Given the description of an element on the screen output the (x, y) to click on. 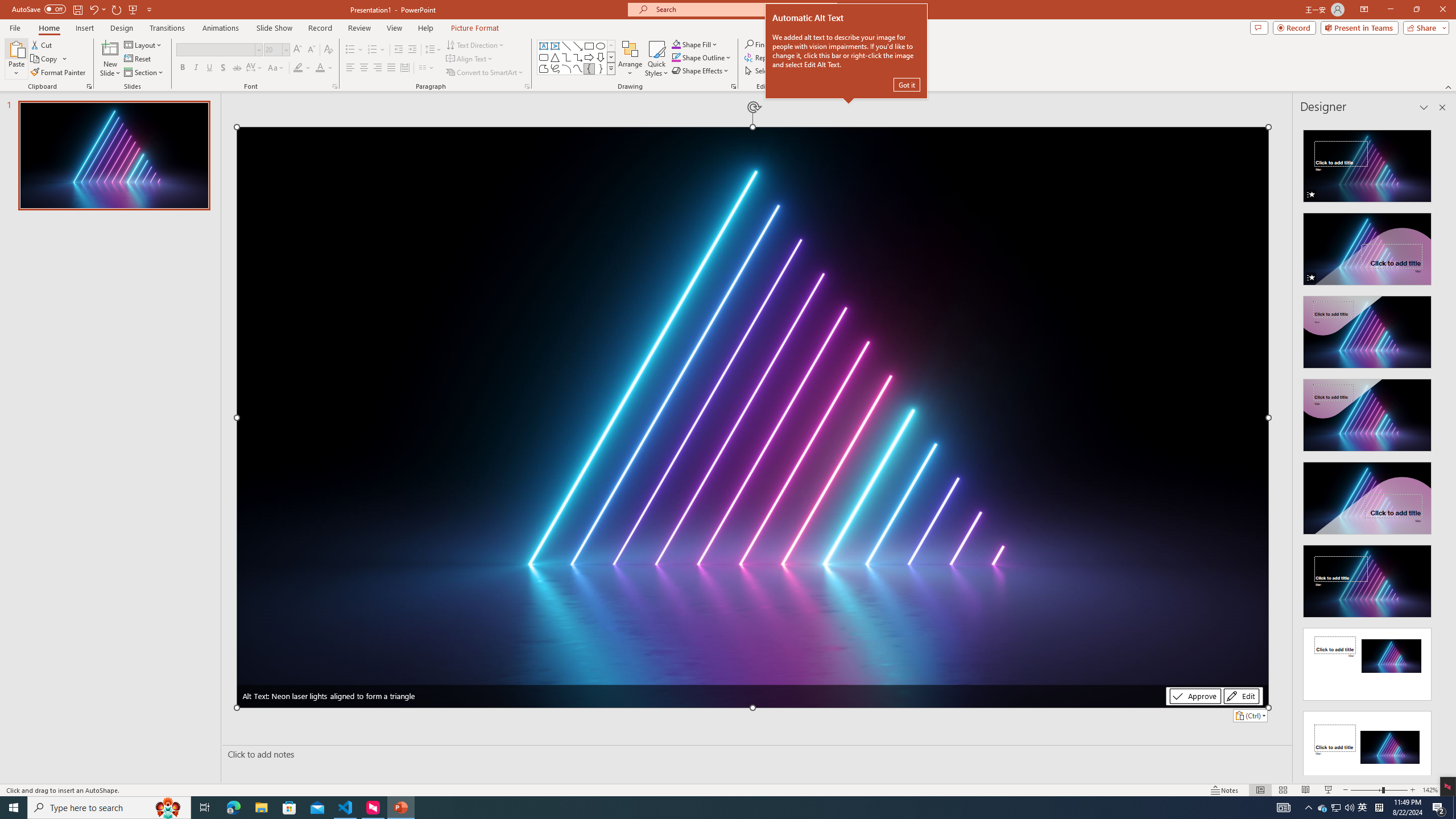
Shape Fill Orange, Accent 2 (675, 44)
Shape Outline Blue, Accent 1 (675, 56)
